Given the description of an element on the screen output the (x, y) to click on. 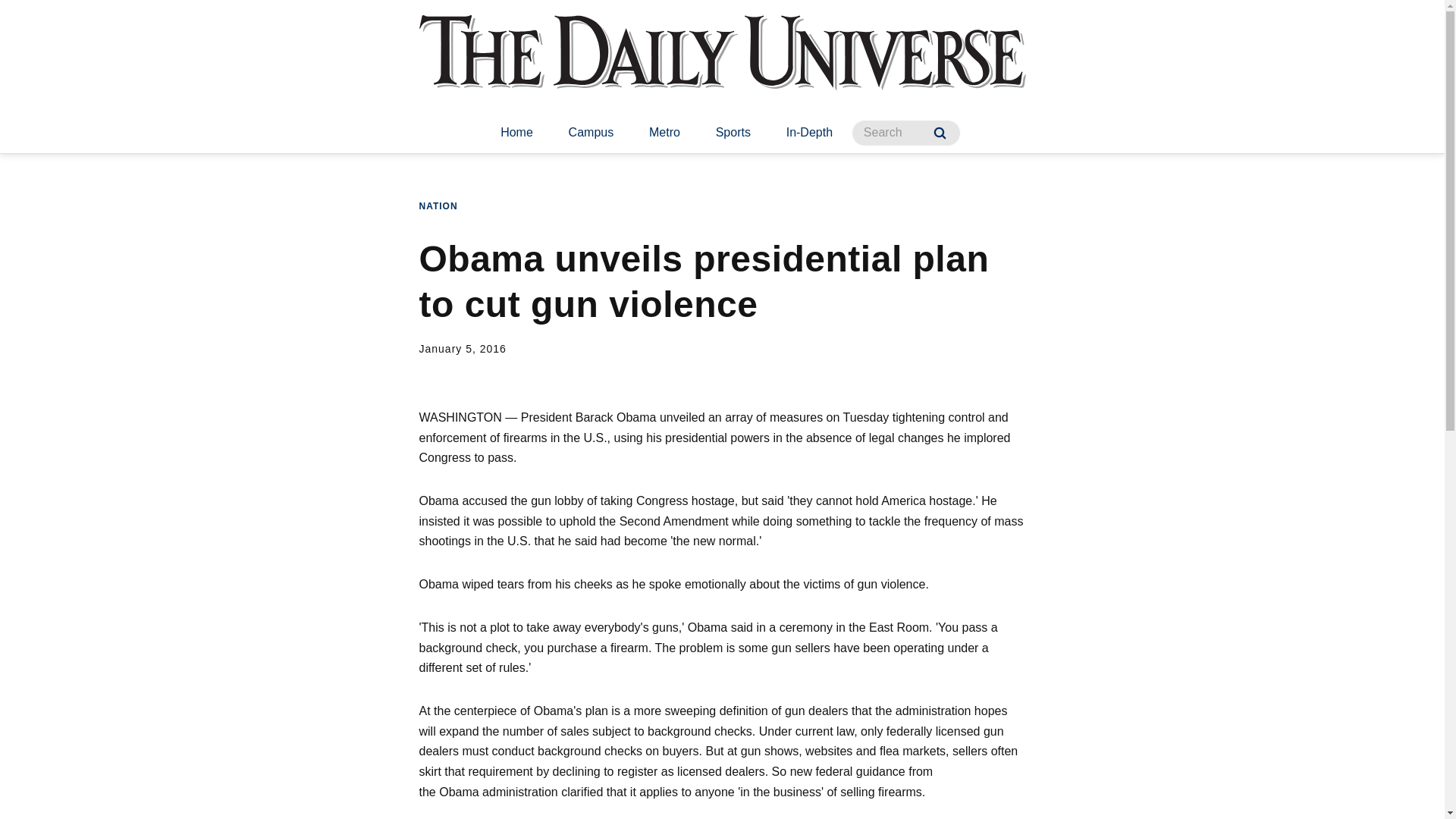
Home (516, 133)
Sports (732, 133)
In-Depth (809, 133)
NATION (438, 206)
Metro (664, 133)
Campus (590, 133)
Search (939, 132)
